Given the description of an element on the screen output the (x, y) to click on. 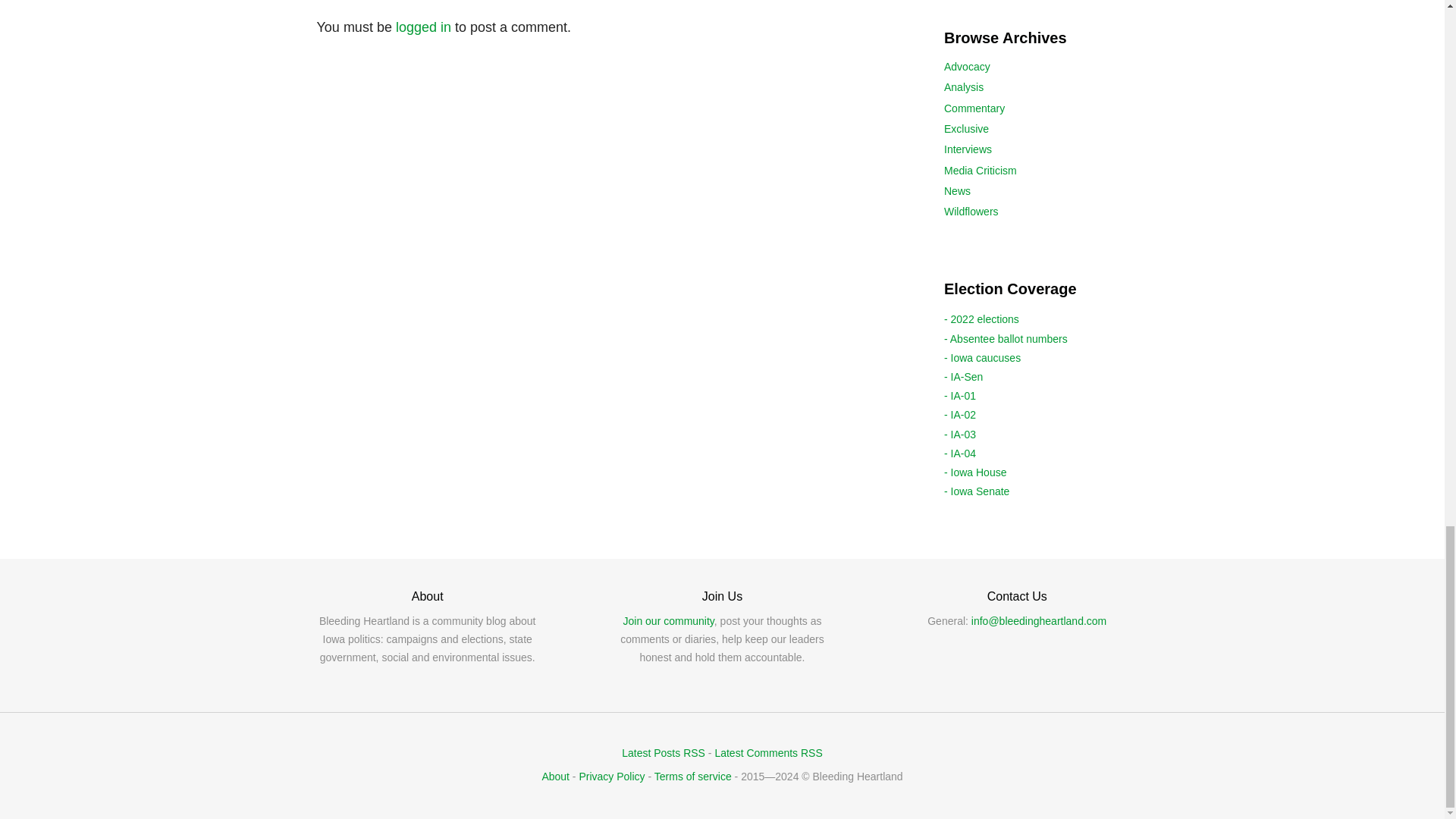
logged in (423, 27)
